Given the description of an element on the screen output the (x, y) to click on. 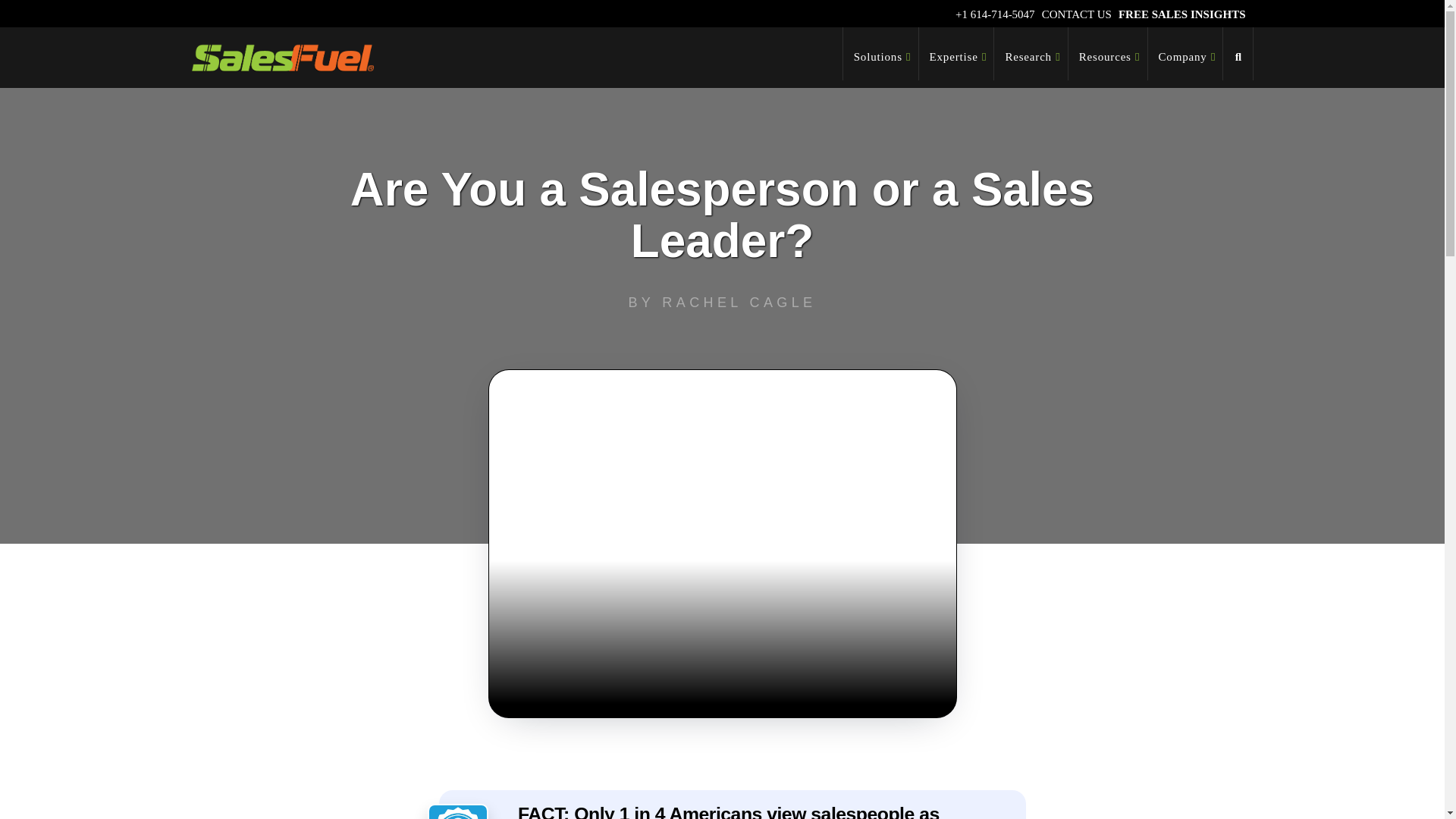
Company (1186, 53)
CONTACT US (1077, 14)
Research (1030, 53)
Expertise (956, 53)
Resources (1108, 53)
FREE SALES INSIGHTS (1182, 14)
Solutions (880, 53)
